Given the description of an element on the screen output the (x, y) to click on. 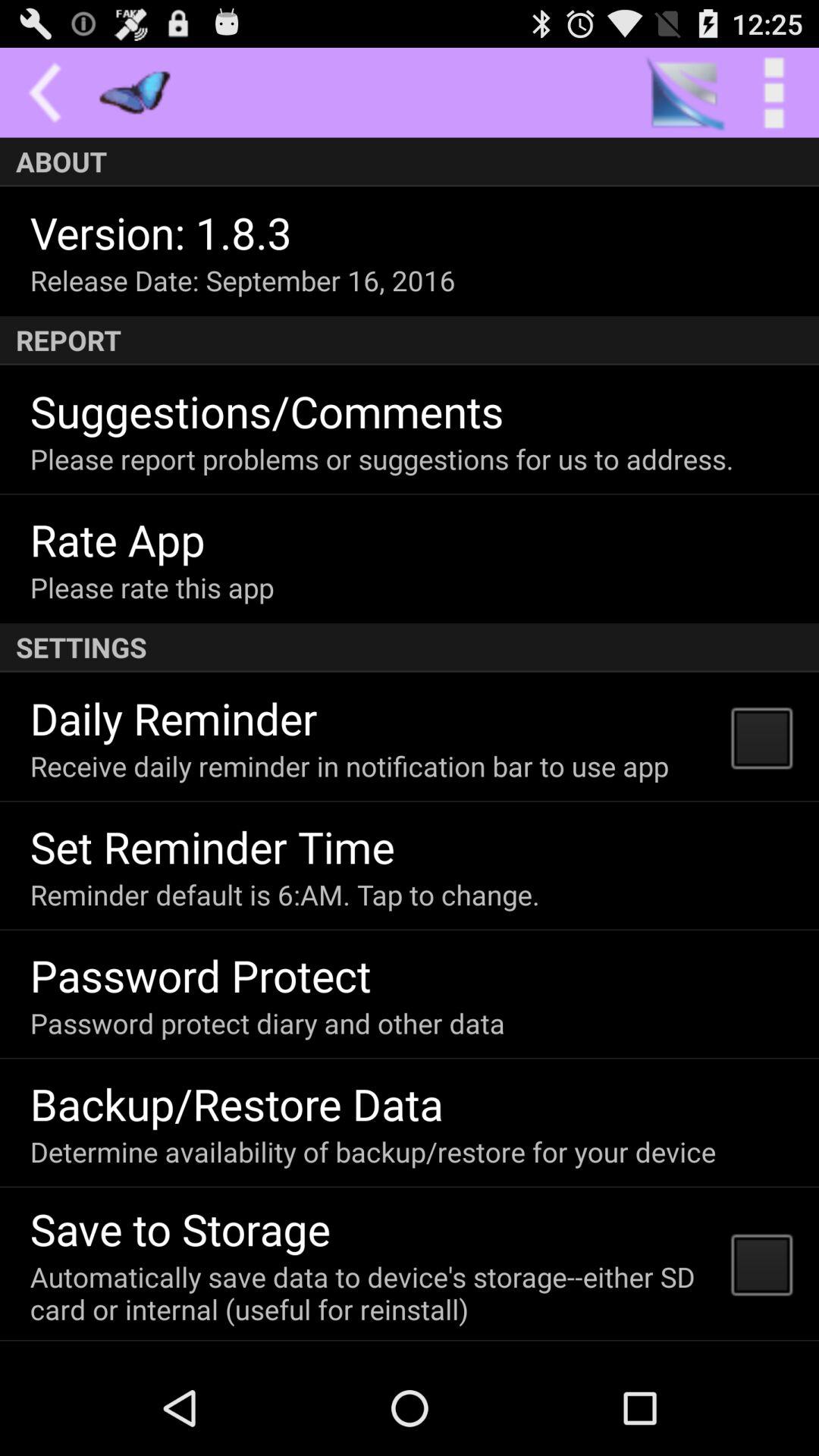
press item below version 1 8 app (242, 280)
